Given the description of an element on the screen output the (x, y) to click on. 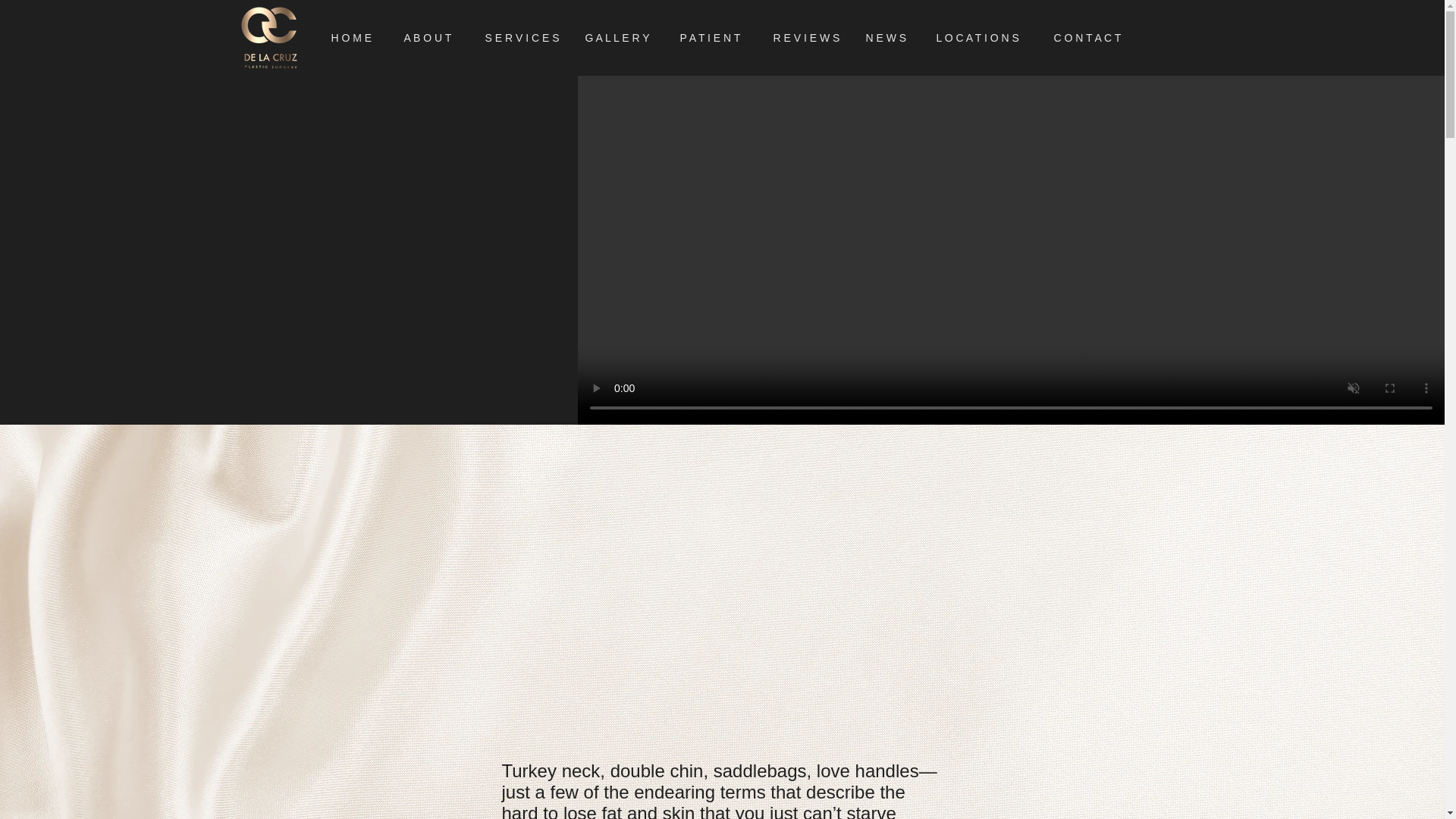
P A T I E N T (714, 37)
H O M E (356, 37)
S E R V I C E S (523, 37)
A B O U T (433, 37)
G A L L E R Y (620, 37)
